Given the description of an element on the screen output the (x, y) to click on. 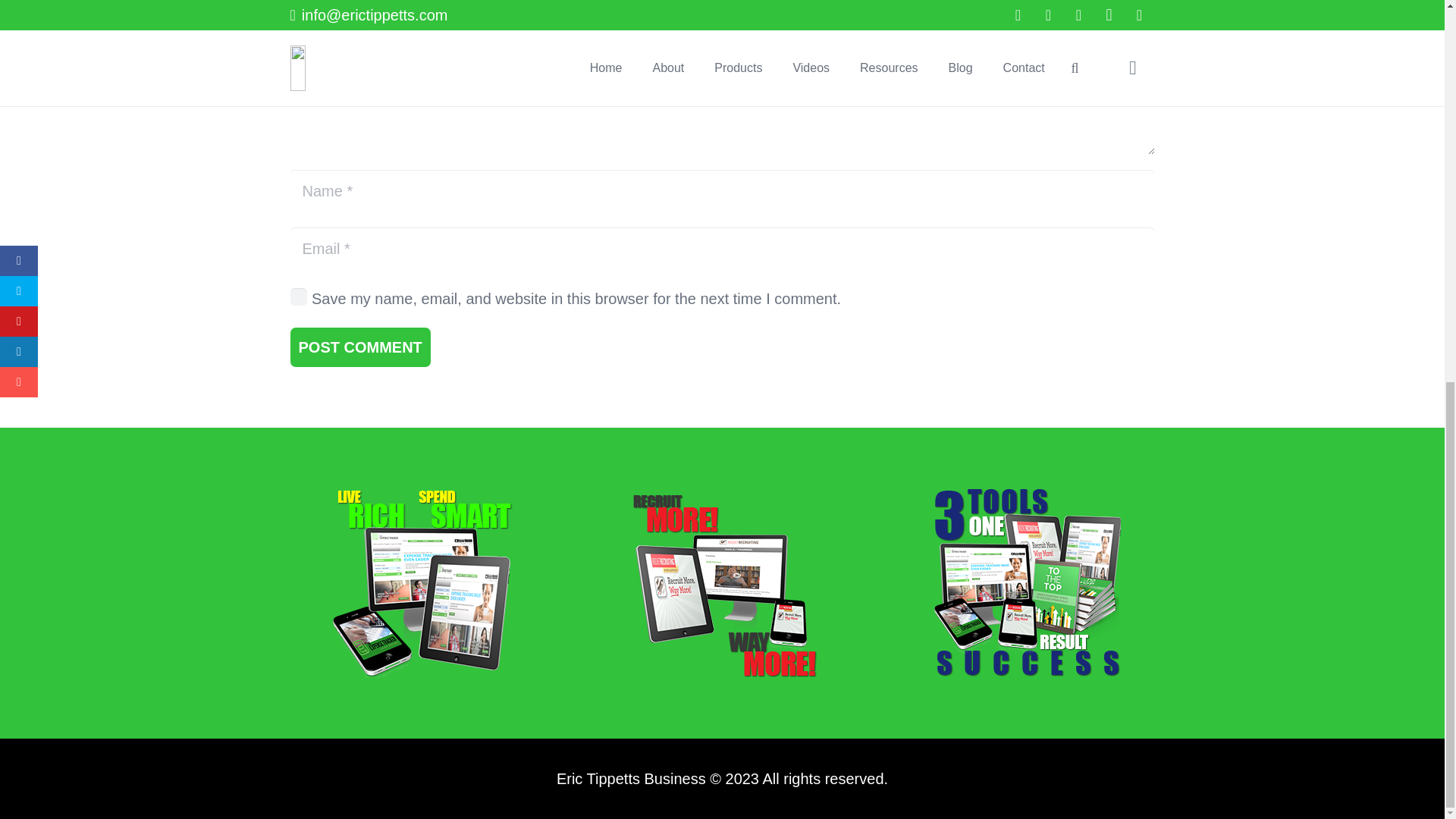
Back to top (1413, 151)
POST COMMENT (359, 346)
1 (298, 296)
